Given the description of an element on the screen output the (x, y) to click on. 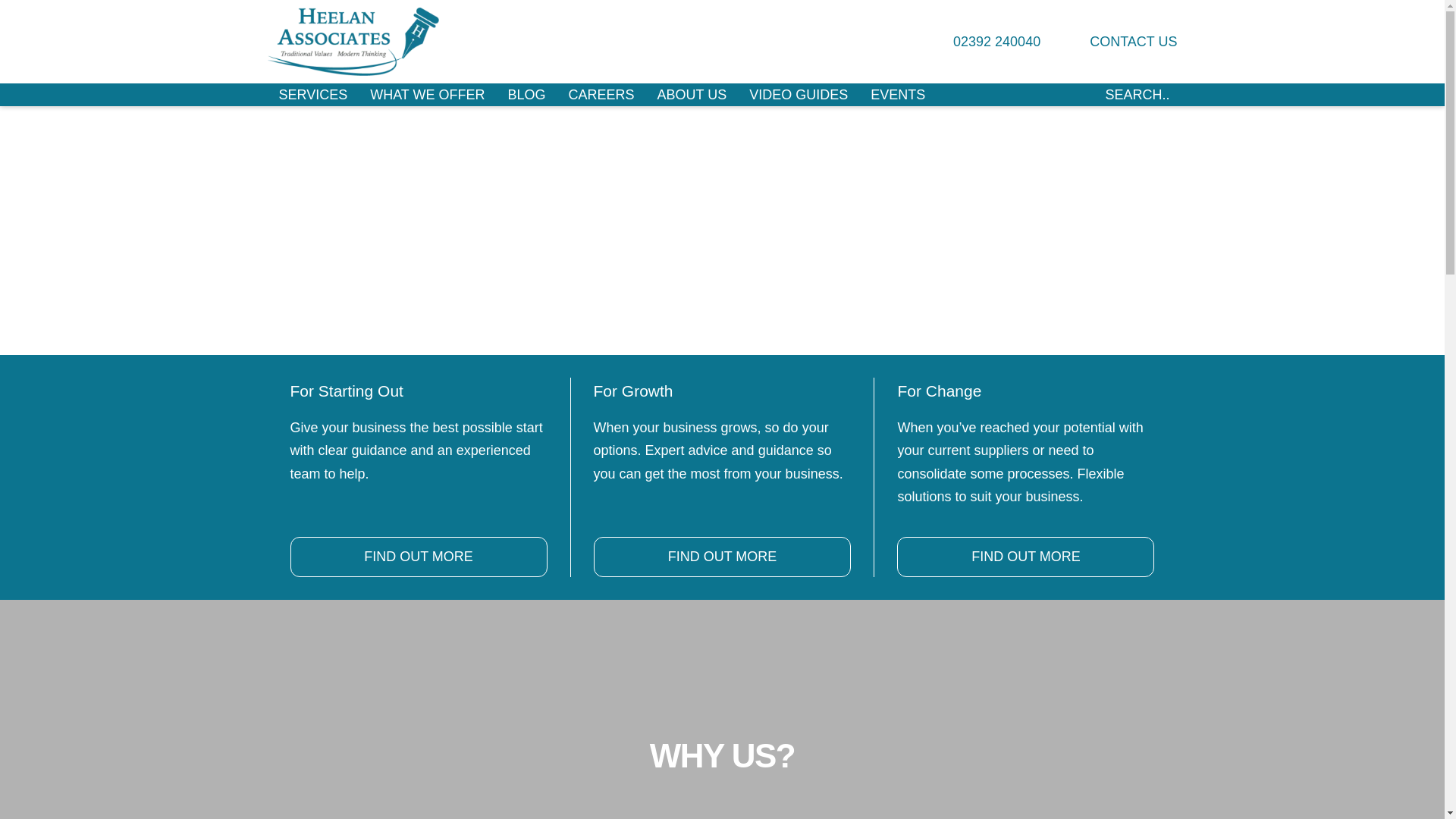
BLOG (526, 94)
VIDEO GUIDES (798, 94)
CONTACT US (1119, 42)
EVENTS (897, 94)
WHAT WE OFFER (427, 94)
Search (1089, 94)
SERVICES (312, 94)
Search (1089, 94)
02392 240040 (983, 42)
ABOUT US (692, 94)
